Given the description of an element on the screen output the (x, y) to click on. 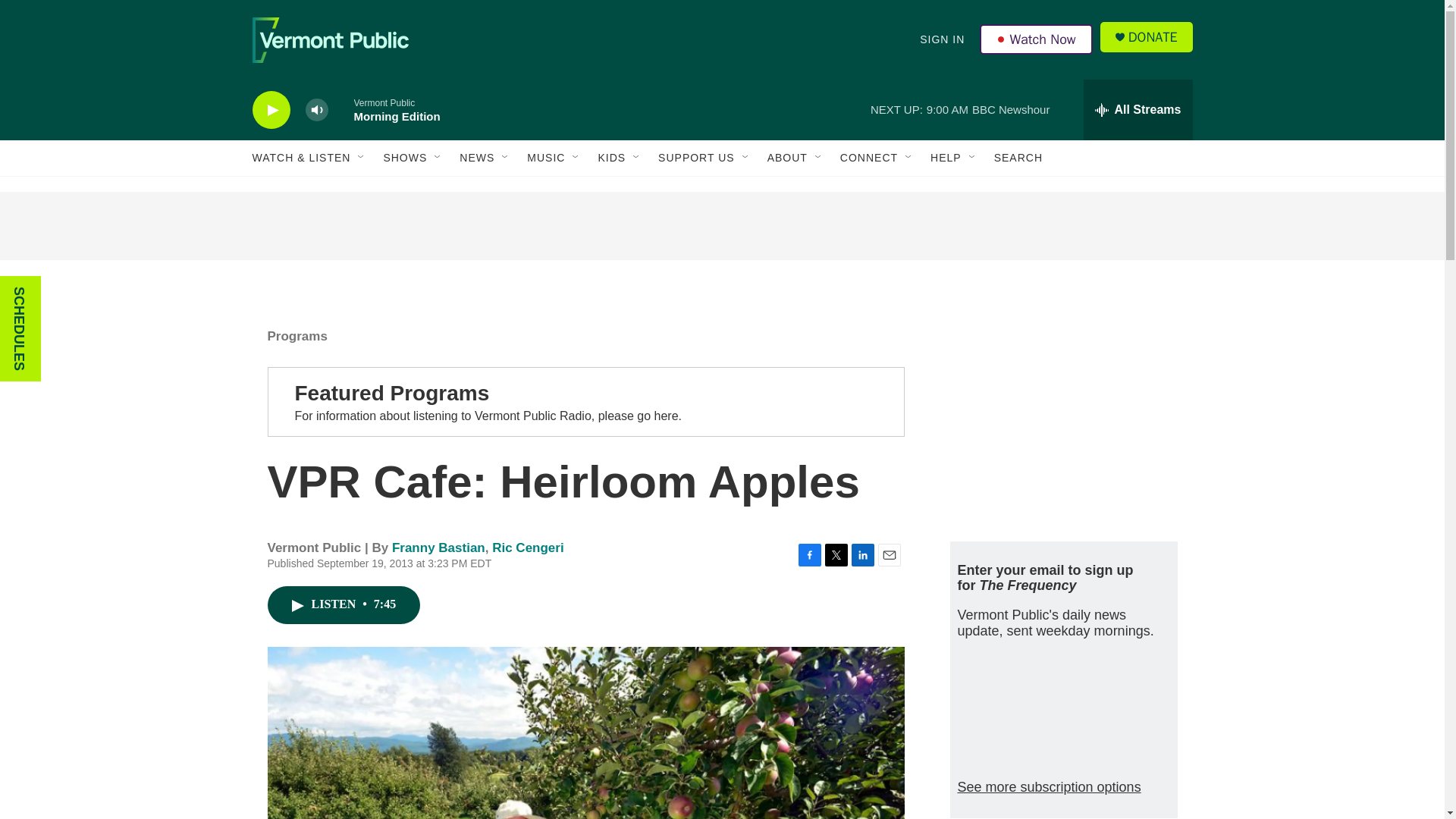
3rd party ad content (721, 225)
3rd party ad content (1062, 416)
